Given the description of an element on the screen output the (x, y) to click on. 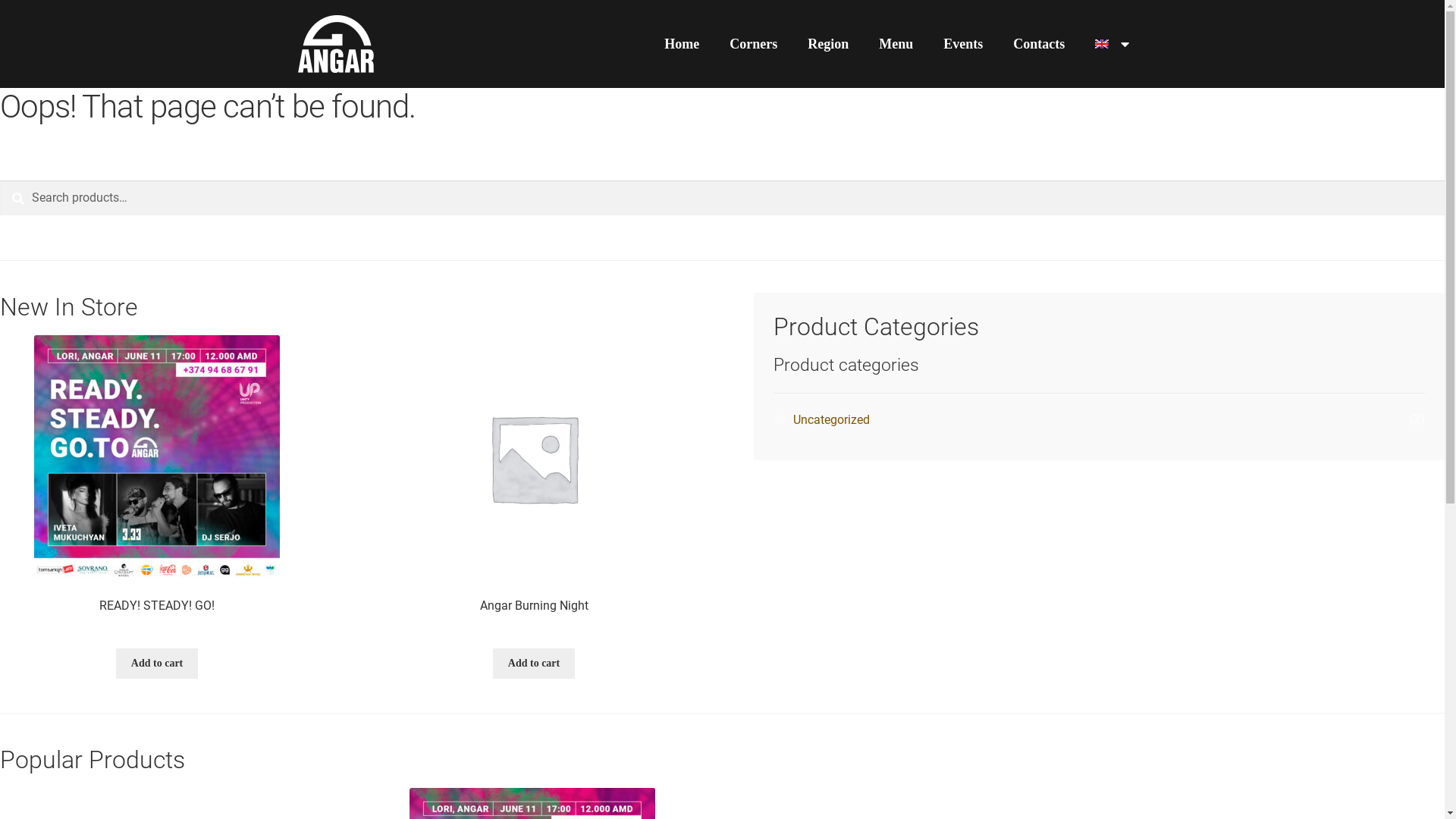
ANGAR-LOGO-white Element type: hover (335, 43)
Home Element type: text (681, 43)
Uncategorized Element type: text (831, 419)
Add to cart Element type: text (533, 663)
Add to cart Element type: text (156, 663)
Events Element type: text (962, 43)
Corners Element type: text (753, 43)
Angar Burning Night
10,000.00AMD Element type: text (533, 485)
Contacts Element type: text (1038, 43)
Region Element type: text (827, 43)
READY! STEADY! GO!
12,000.00AMD Element type: text (156, 485)
Menu Element type: text (895, 43)
